Given the description of an element on the screen output the (x, y) to click on. 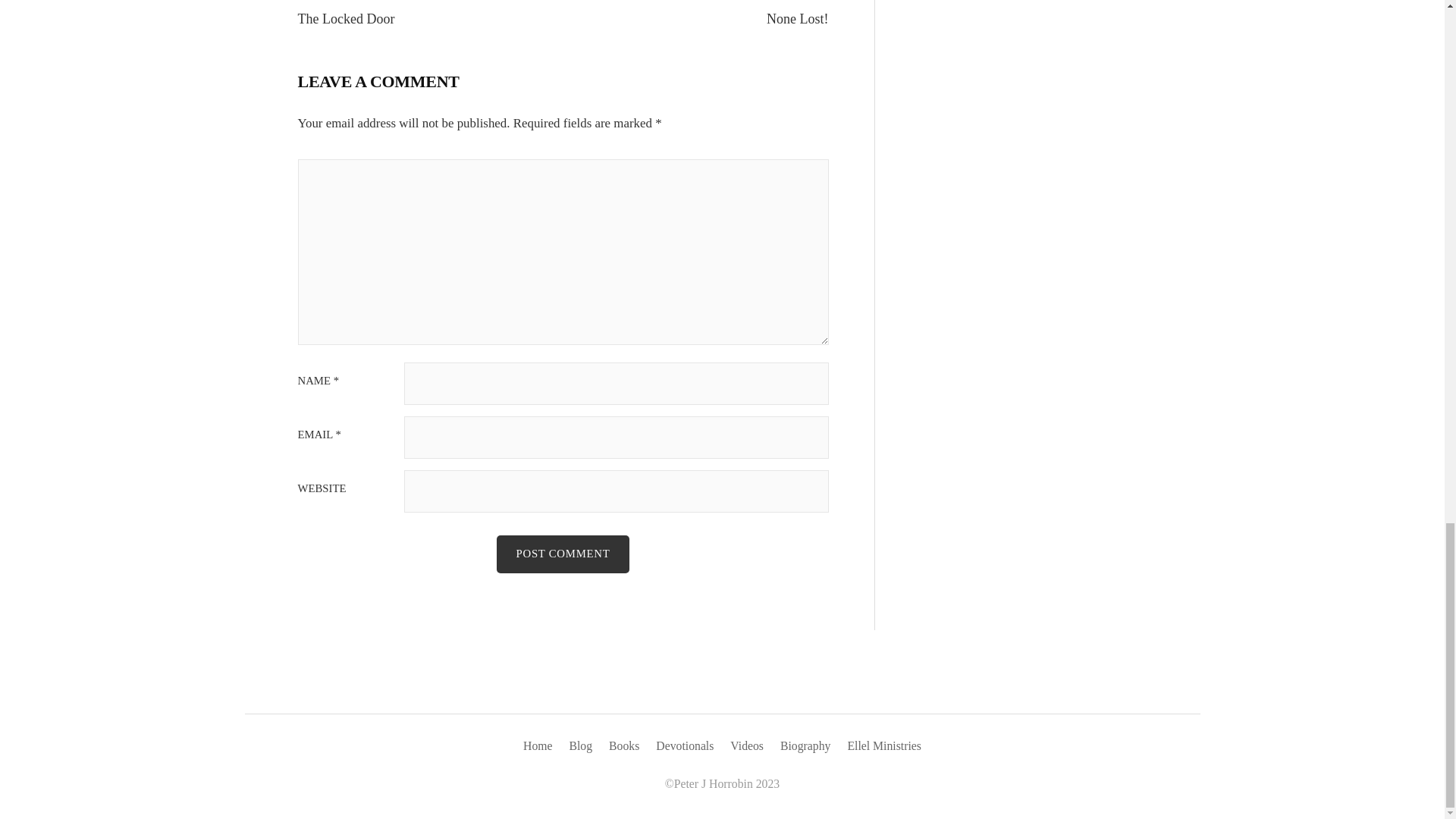
Ellel Ministries (884, 745)
Home (537, 745)
None Lost! (797, 18)
Post Comment (562, 554)
Blog (580, 745)
Videos (746, 745)
The Locked Door (345, 18)
Books (623, 745)
Devotionals (684, 745)
Post Comment (562, 554)
Biography (805, 745)
